Given the description of an element on the screen output the (x, y) to click on. 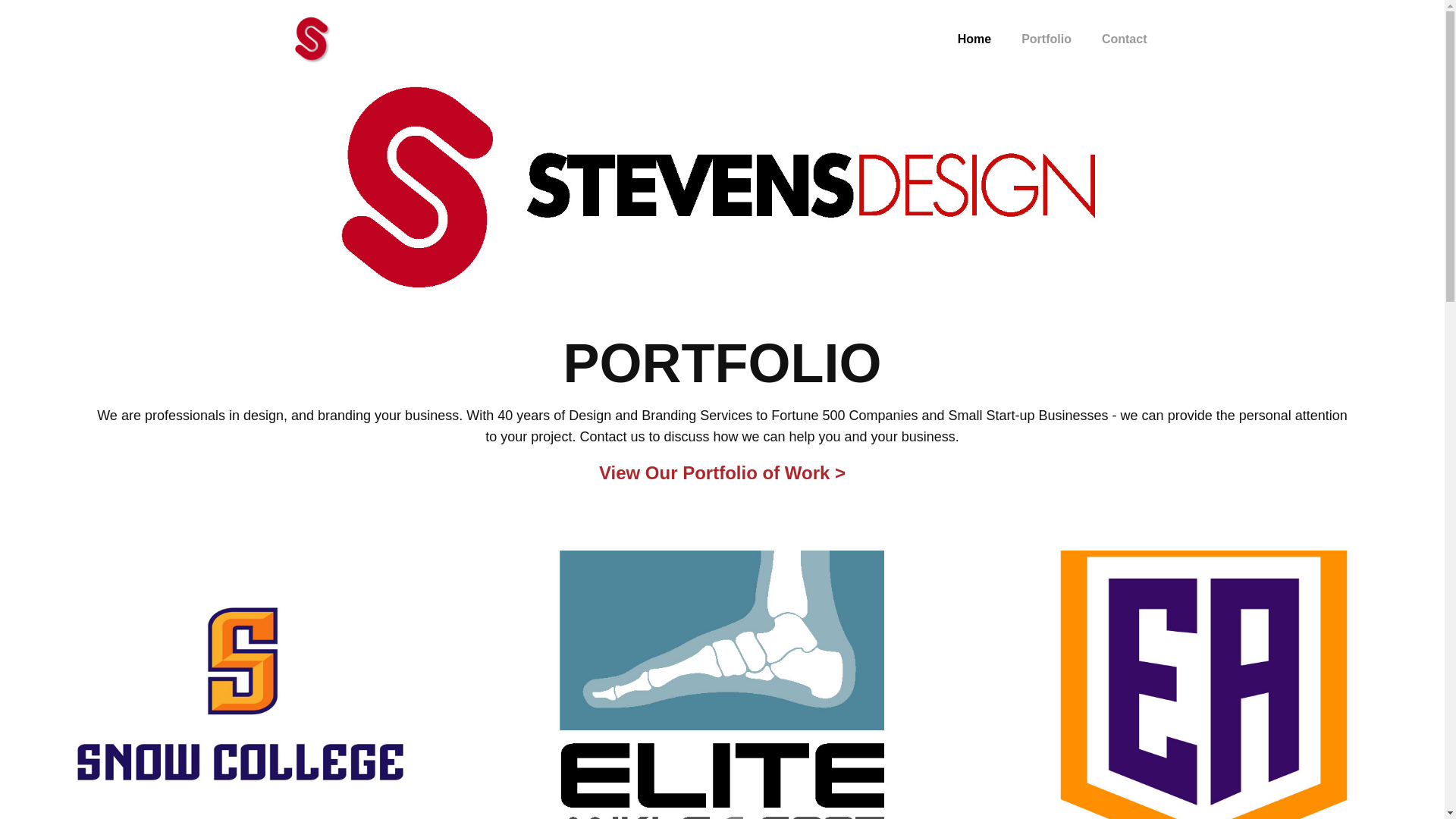
Contact (1124, 39)
Home (974, 39)
Portfolio (1045, 39)
